Given the description of an element on the screen output the (x, y) to click on. 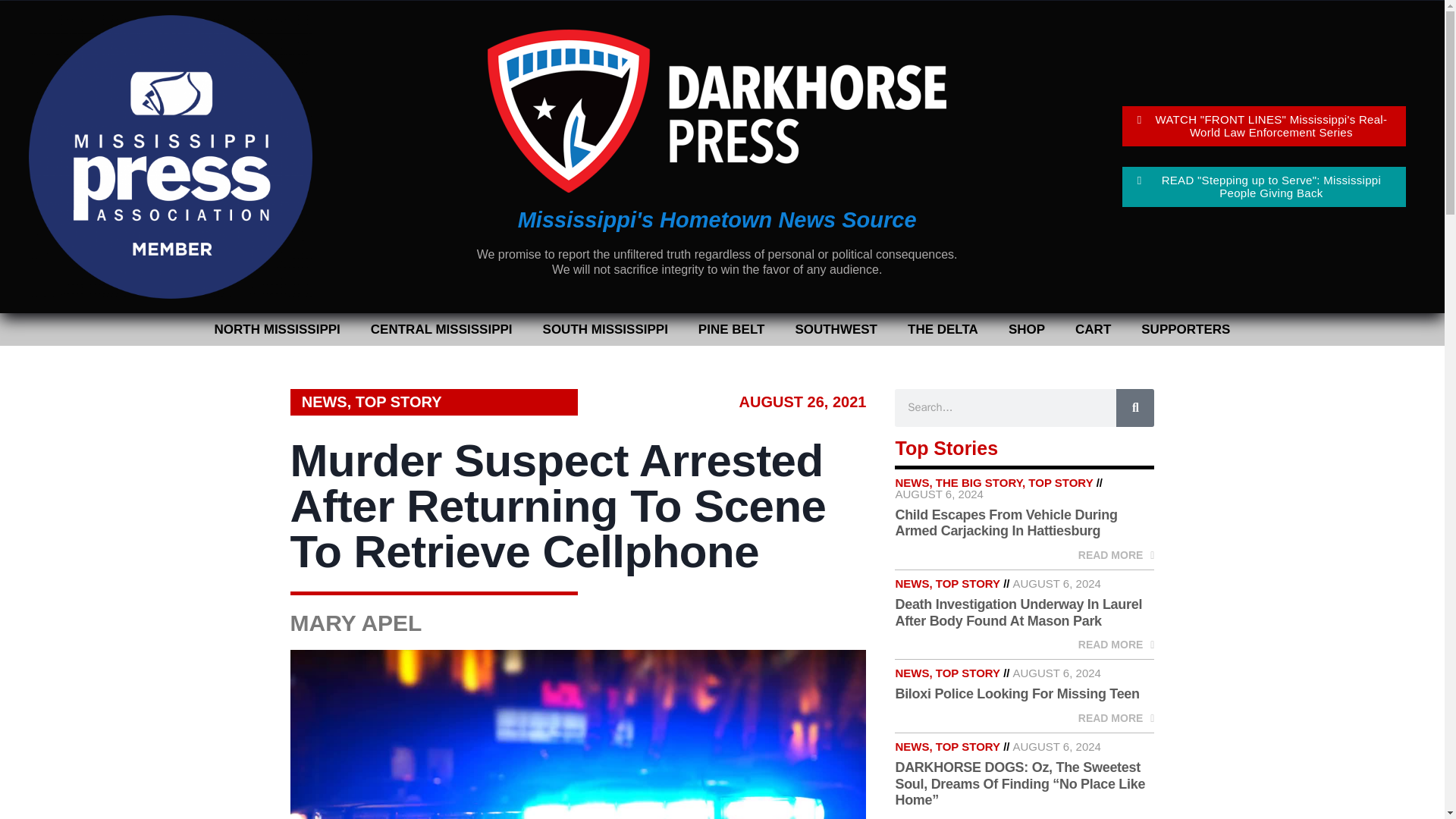
SOUTHWEST (835, 328)
CENTRAL MISSISSIPPI (441, 328)
TOP STORY (398, 401)
SUPPORTERS (1184, 328)
READ "Stepping up to Serve": Mississippi People Giving Back (1264, 187)
SHOP (1025, 328)
SOUTH MISSISSIPPI (604, 328)
NEWS (324, 401)
CART (1092, 328)
PINE BELT (731, 328)
THE DELTA (942, 328)
NORTH MISSISSIPPI (277, 328)
